Given the description of an element on the screen output the (x, y) to click on. 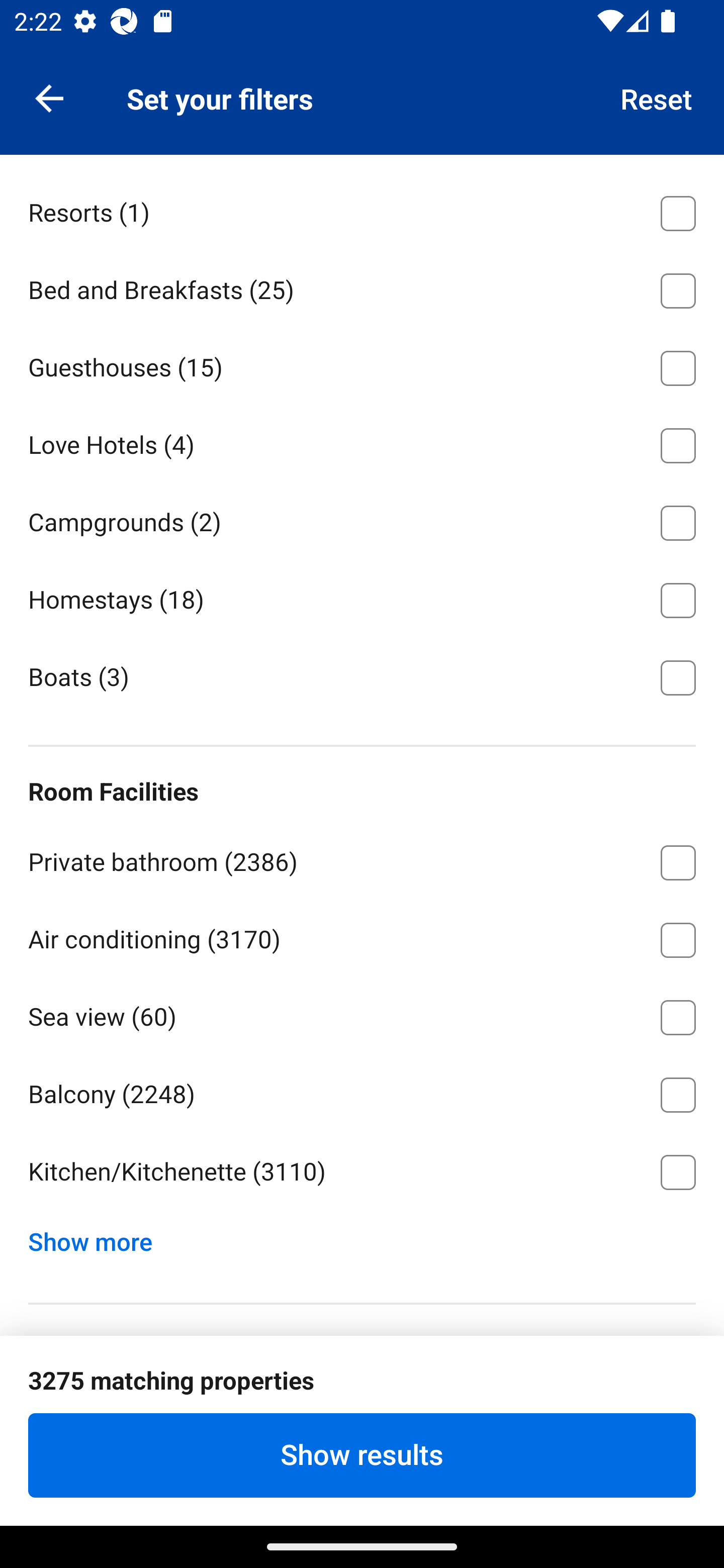
Navigate up (49, 97)
Reset (656, 97)
Resorts ⁦(1) (361, 209)
Bed and Breakfasts ⁦(25) (361, 287)
Guesthouses ⁦(15) (361, 364)
Love Hotels ⁦(4) (361, 441)
Campgrounds ⁦(2) (361, 519)
Homestays ⁦(18) (361, 596)
Boats ⁦(3) (361, 675)
Private bathroom ⁦(2386) (361, 859)
Air conditioning ⁦(3170) (361, 936)
Sea view ⁦(60) (361, 1013)
Balcony ⁦(2248) (361, 1091)
Kitchen/Kitchenette ⁦(3110) (361, 1172)
Show more (97, 1237)
Show results (361, 1454)
